Given the description of an element on the screen output the (x, y) to click on. 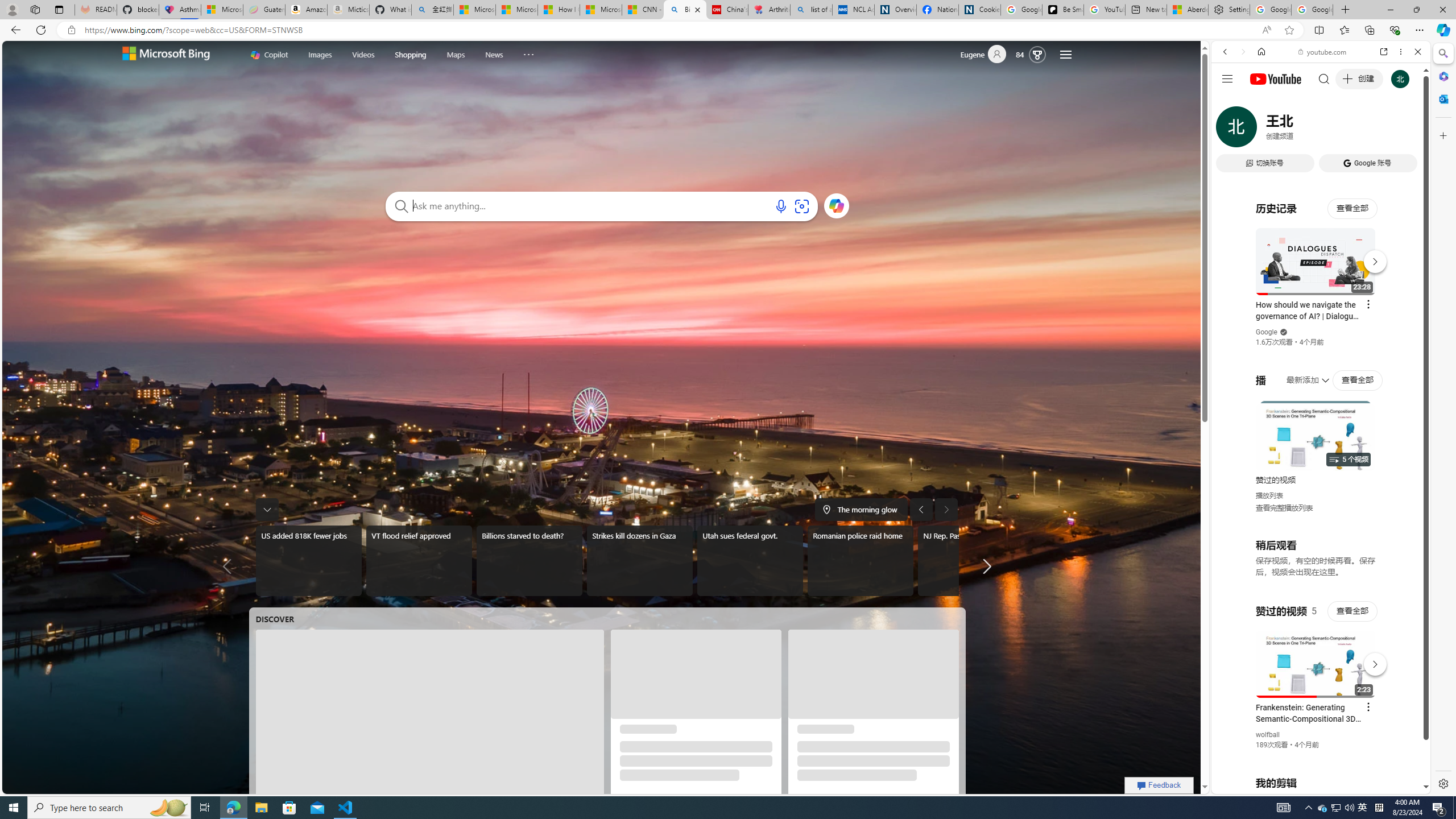
Copilot (269, 54)
NJ Rep. Pascrell dies (970, 560)
Next image (946, 508)
